Given the description of an element on the screen output the (x, y) to click on. 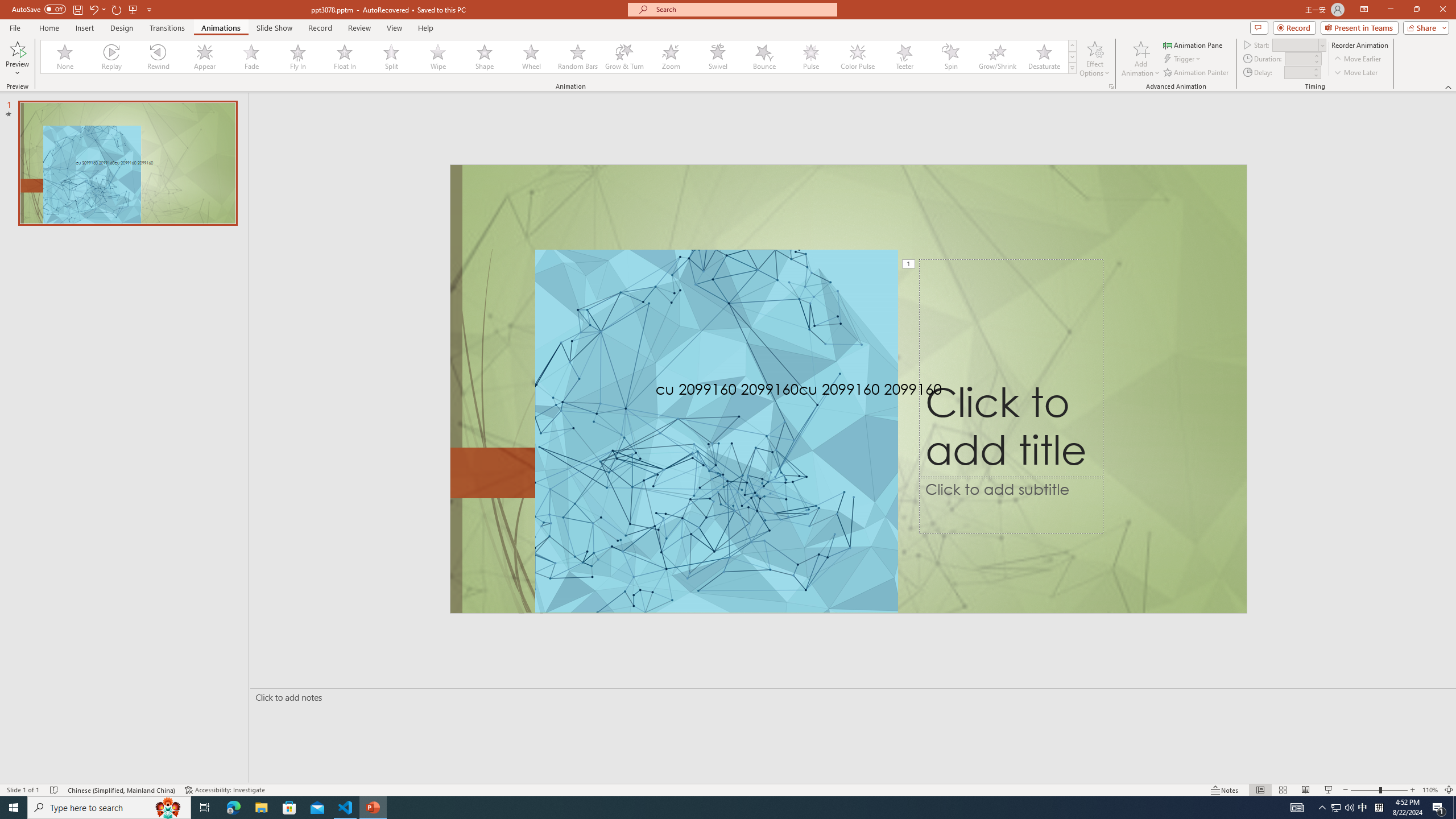
Animation Delay (1297, 72)
Grow & Turn (624, 56)
Animation Duration (1298, 58)
Fly In (298, 56)
